Given the description of an element on the screen output the (x, y) to click on. 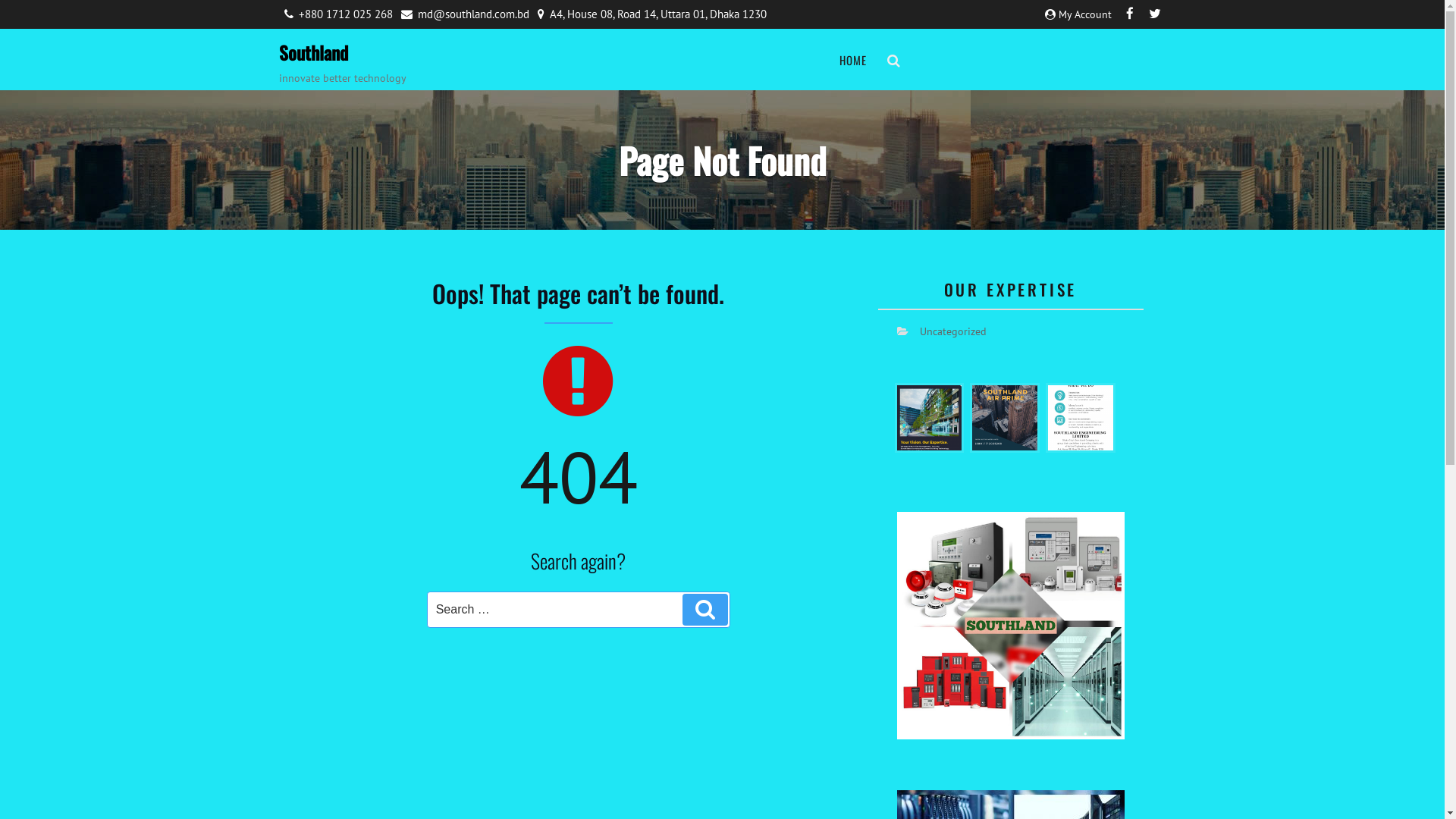
Uncategorized Element type: text (952, 331)
Southland Element type: text (313, 51)
My Account Element type: text (1084, 14)
Twitter Element type: hover (1153, 14)
Facebook Element type: hover (1129, 14)
HOME Element type: text (852, 60)
md@southland.com.bd Element type: text (470, 13)
Search Element type: text (705, 609)
Skip to content Element type: text (0, 0)
